Given the description of an element on the screen output the (x, y) to click on. 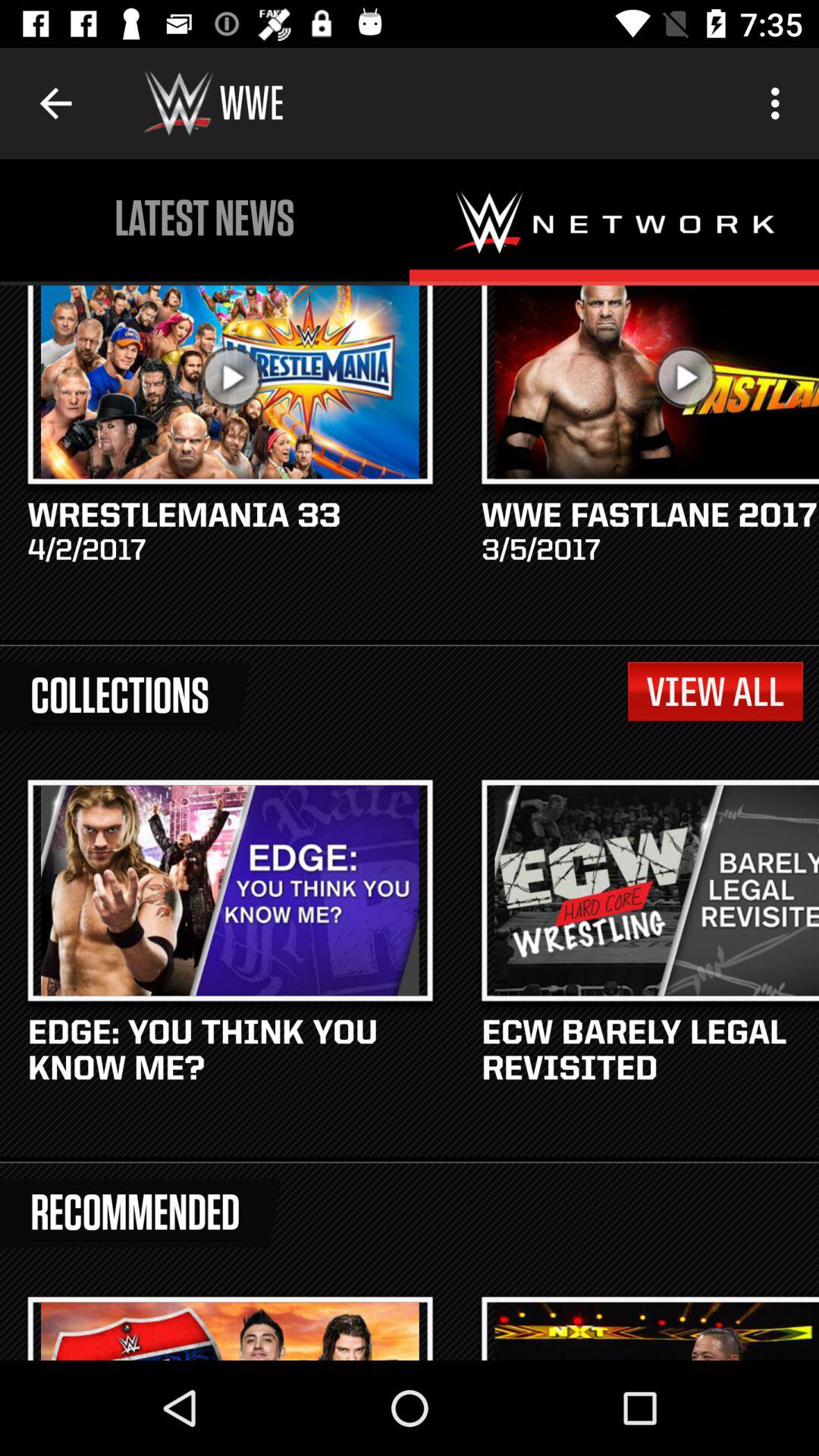
wwe network (614, 222)
